Given the description of an element on the screen output the (x, y) to click on. 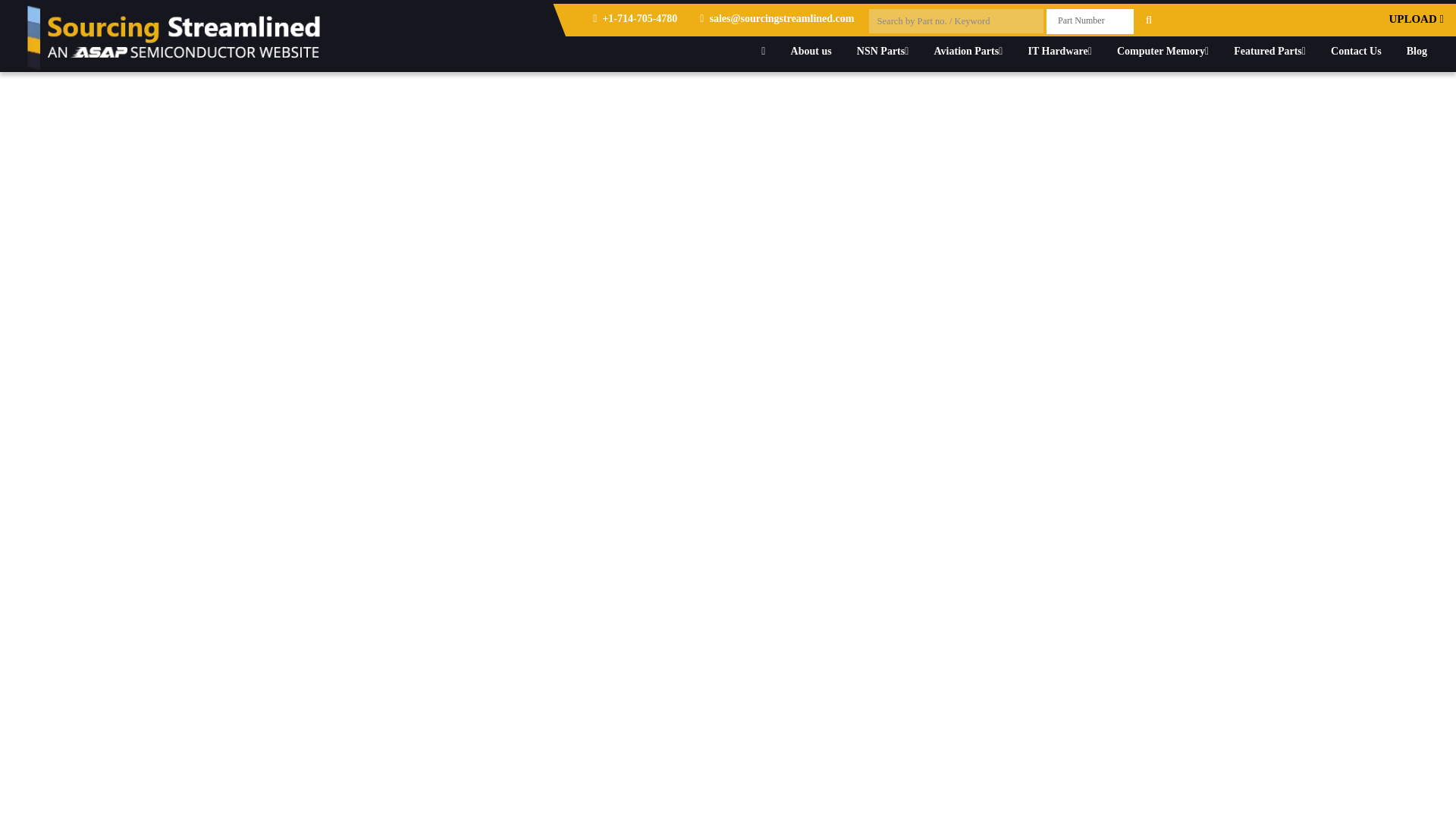
Computer Memory (1162, 51)
IT Hardware (1059, 51)
Featured Parts (1270, 51)
About us (810, 51)
NSN Parts (882, 51)
Blog (1416, 51)
Contact Us (1356, 51)
Aviation Parts (968, 51)
